Given the description of an element on the screen output the (x, y) to click on. 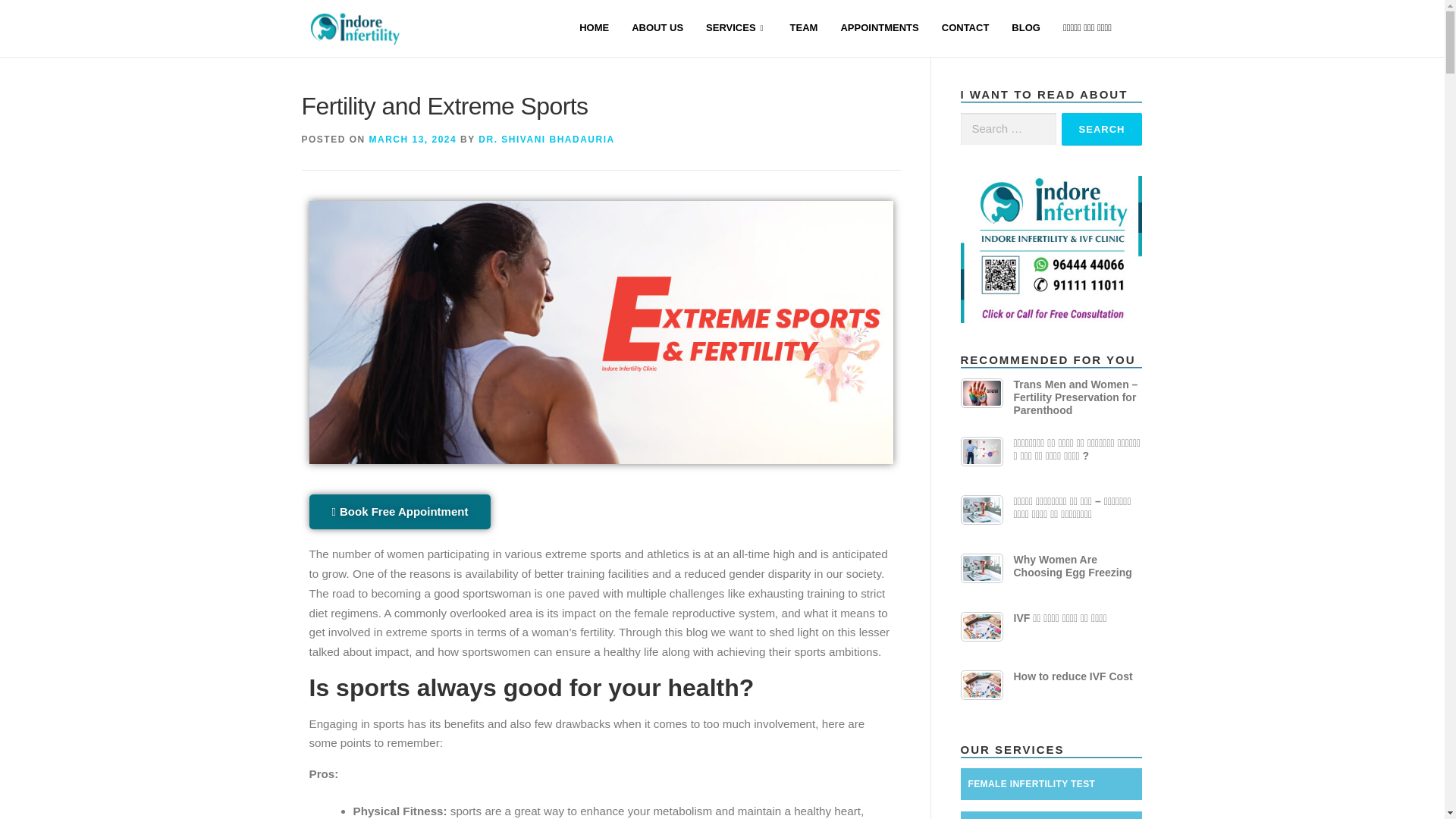
ABOUT US (657, 28)
TEAM (803, 28)
APPOINTMENTS (879, 28)
CONTACT (965, 28)
HOME (593, 28)
SERVICES (736, 28)
BLOG (1025, 28)
Search (1101, 129)
Search (1101, 129)
